Given the description of an element on the screen output the (x, y) to click on. 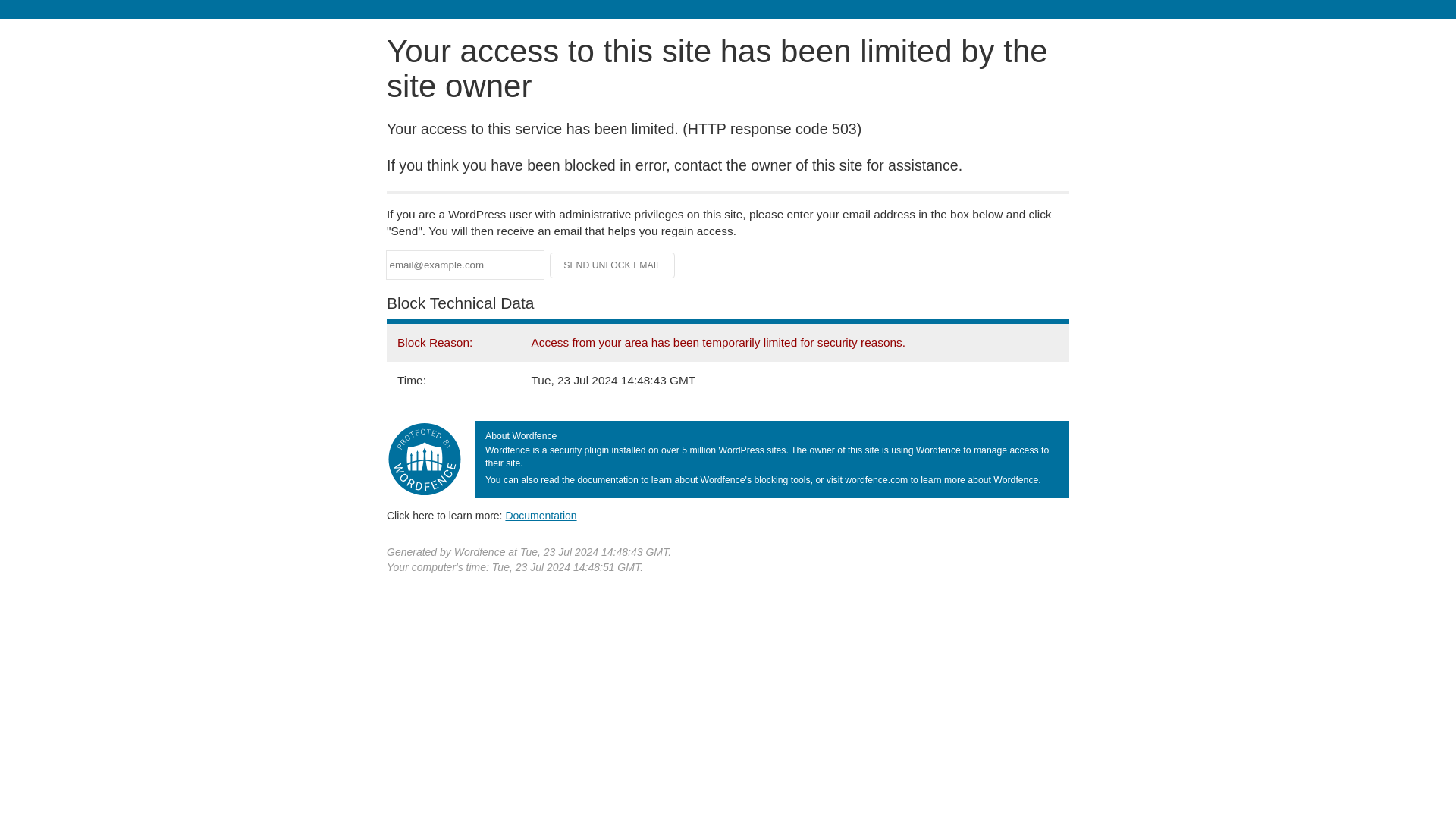
Documentation (540, 515)
Send Unlock Email (612, 265)
Send Unlock Email (612, 265)
